Given the description of an element on the screen output the (x, y) to click on. 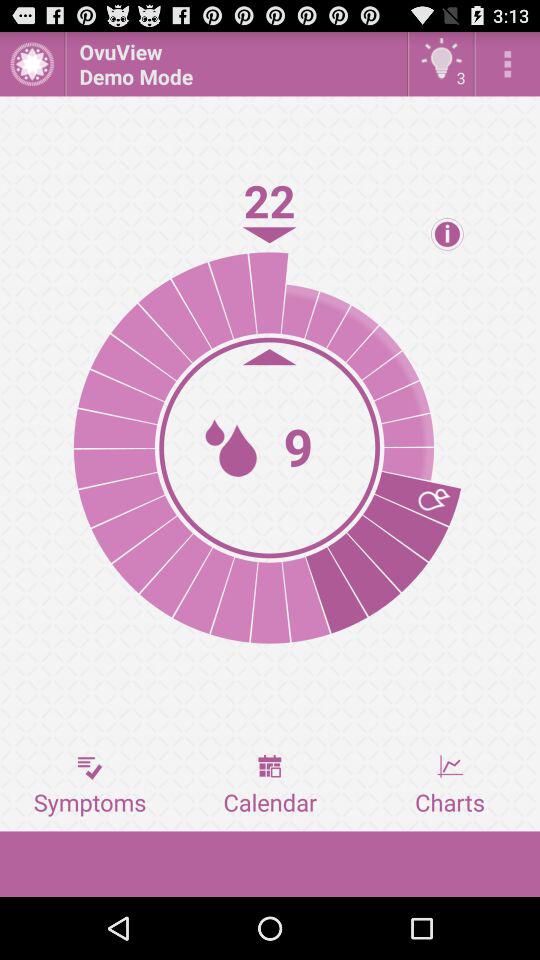
press the button next to the calendar item (90, 785)
